Given the description of an element on the screen output the (x, y) to click on. 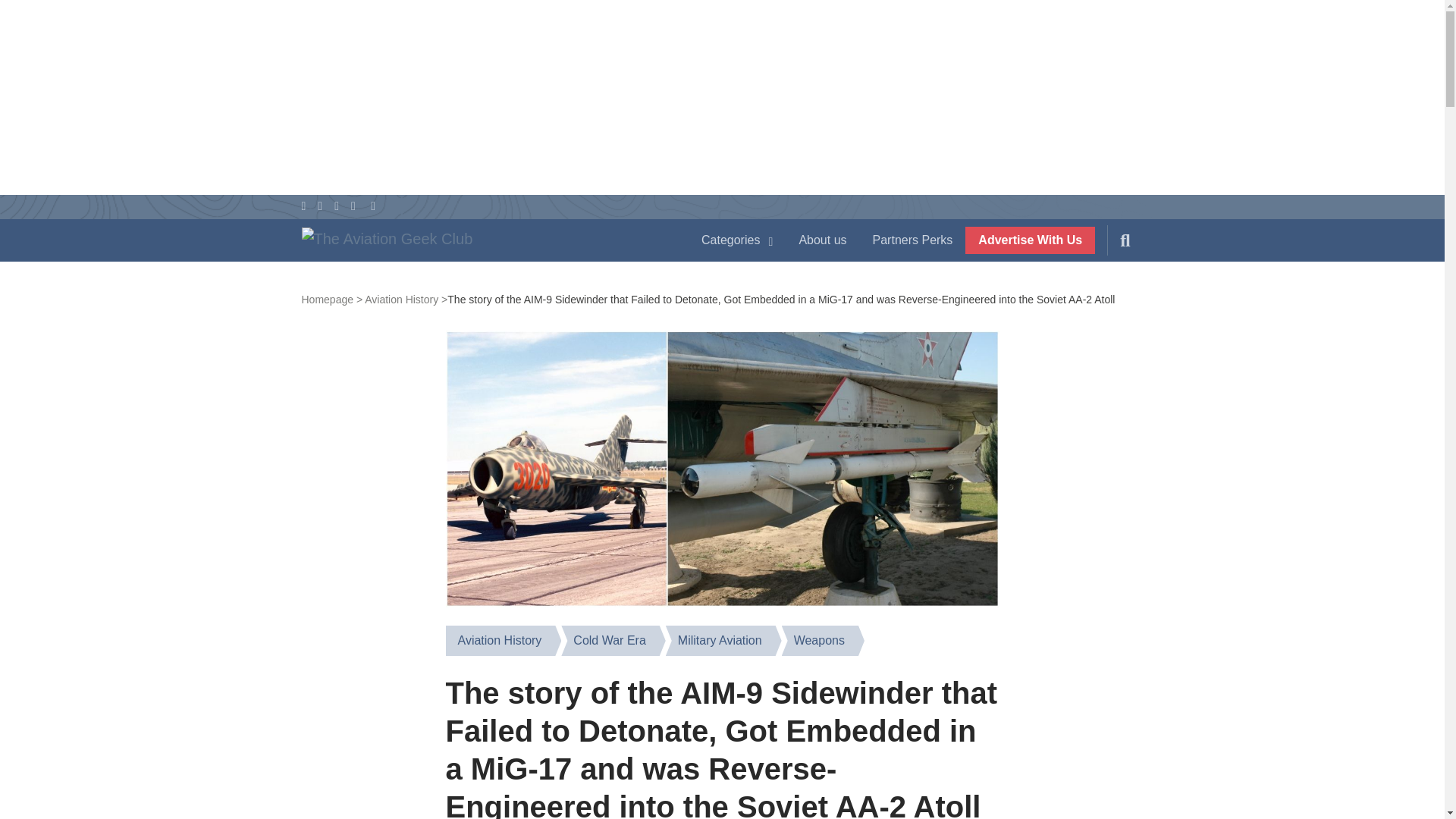
Back to Home (485, 242)
Advertise With Us (1029, 239)
Back to homepage (331, 299)
About us (822, 239)
Partners Perks (913, 239)
Categories (737, 239)
